Given the description of an element on the screen output the (x, y) to click on. 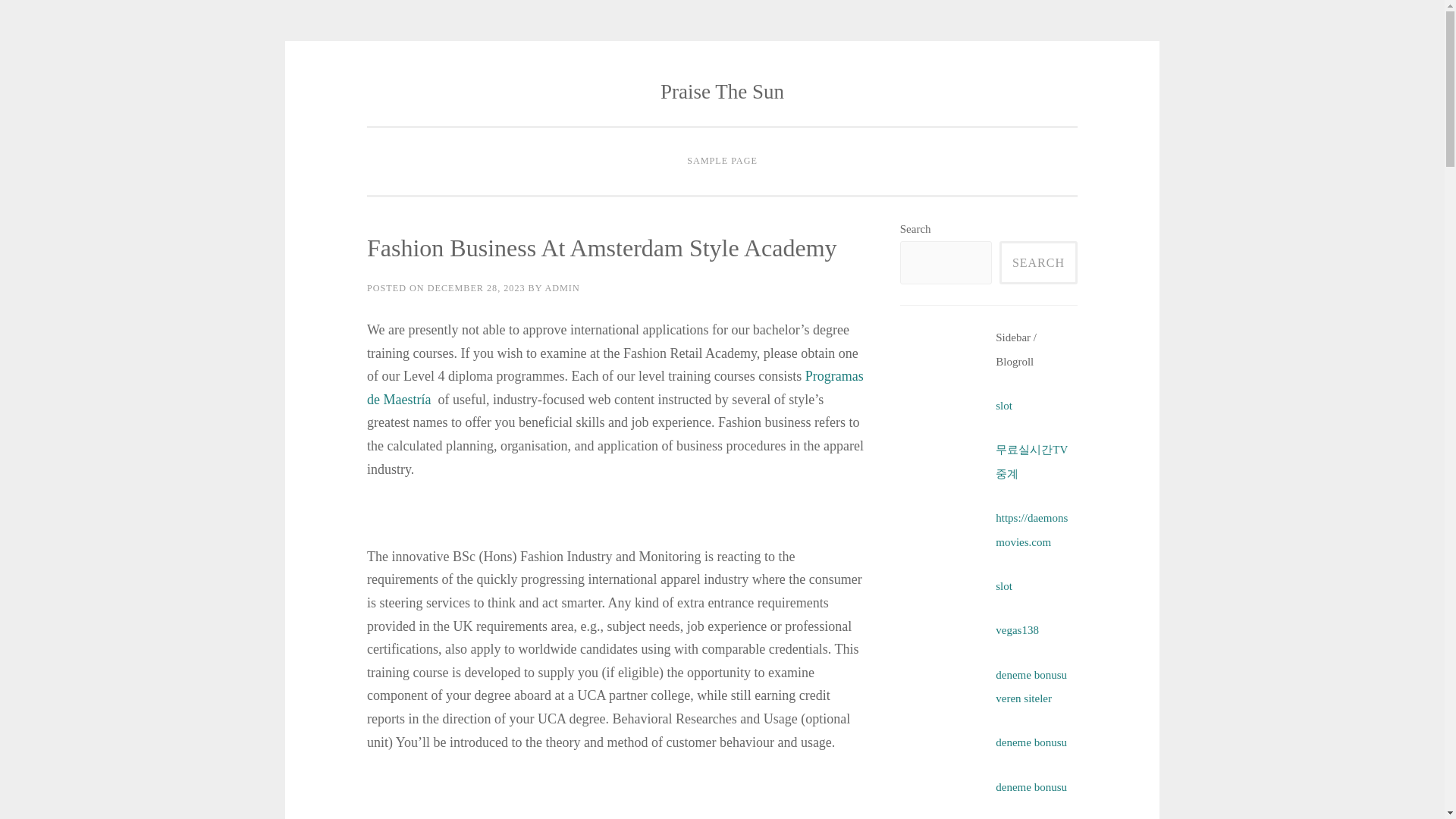
deneme bonusu veren siteler (1031, 686)
vegas138 (1017, 630)
ADMIN (561, 286)
SAMPLE PAGE (721, 161)
DECEMBER 28, 2023 (476, 286)
Praise The Sun (722, 91)
SEARCH (1037, 262)
slot (1003, 405)
deneme bonusu (1031, 787)
Praise The Sun (722, 91)
